Given the description of an element on the screen output the (x, y) to click on. 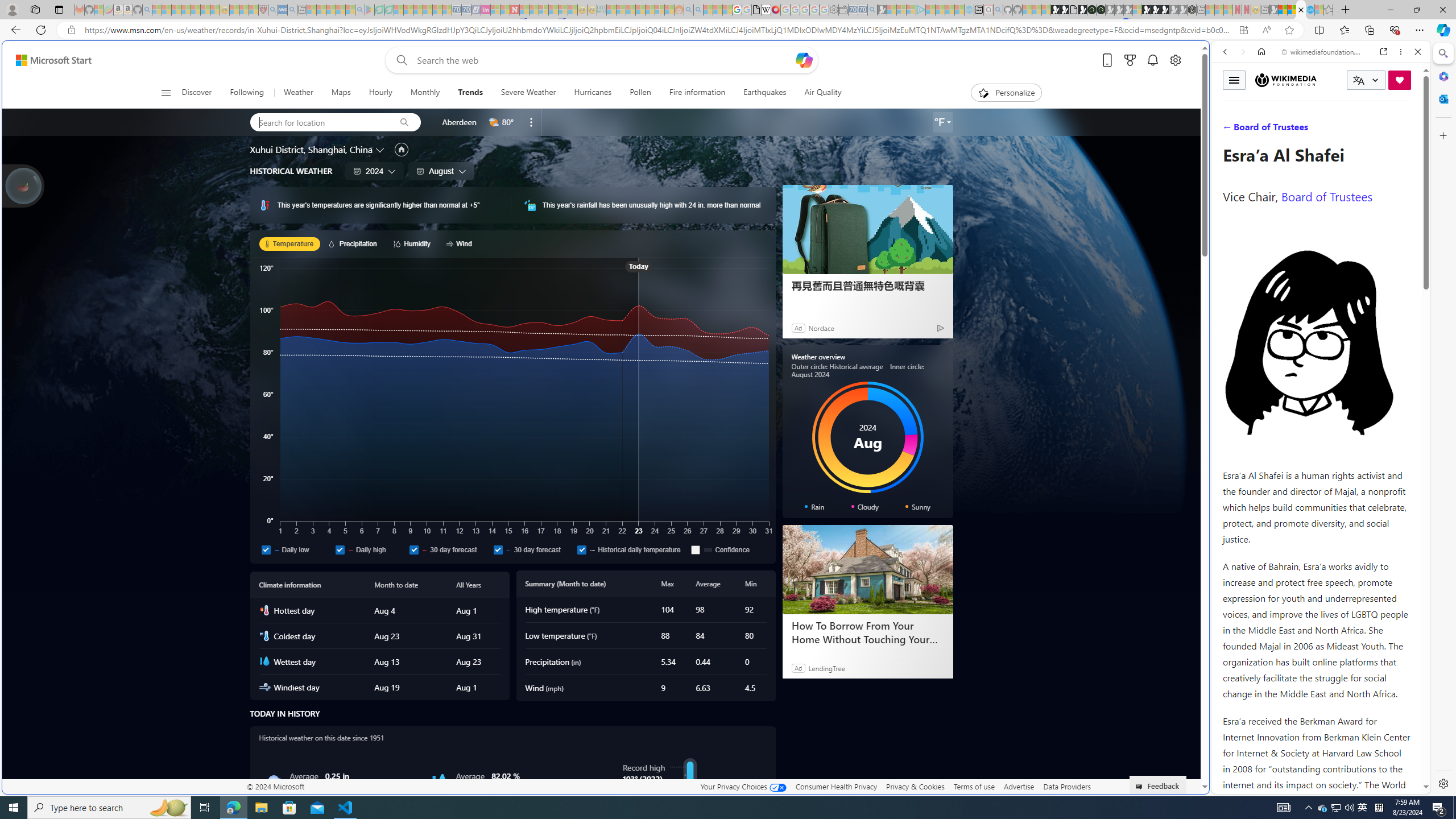
August (440, 170)
Trends (470, 92)
Join us in planting real trees to help our planet! (23, 184)
